Given the description of an element on the screen output the (x, y) to click on. 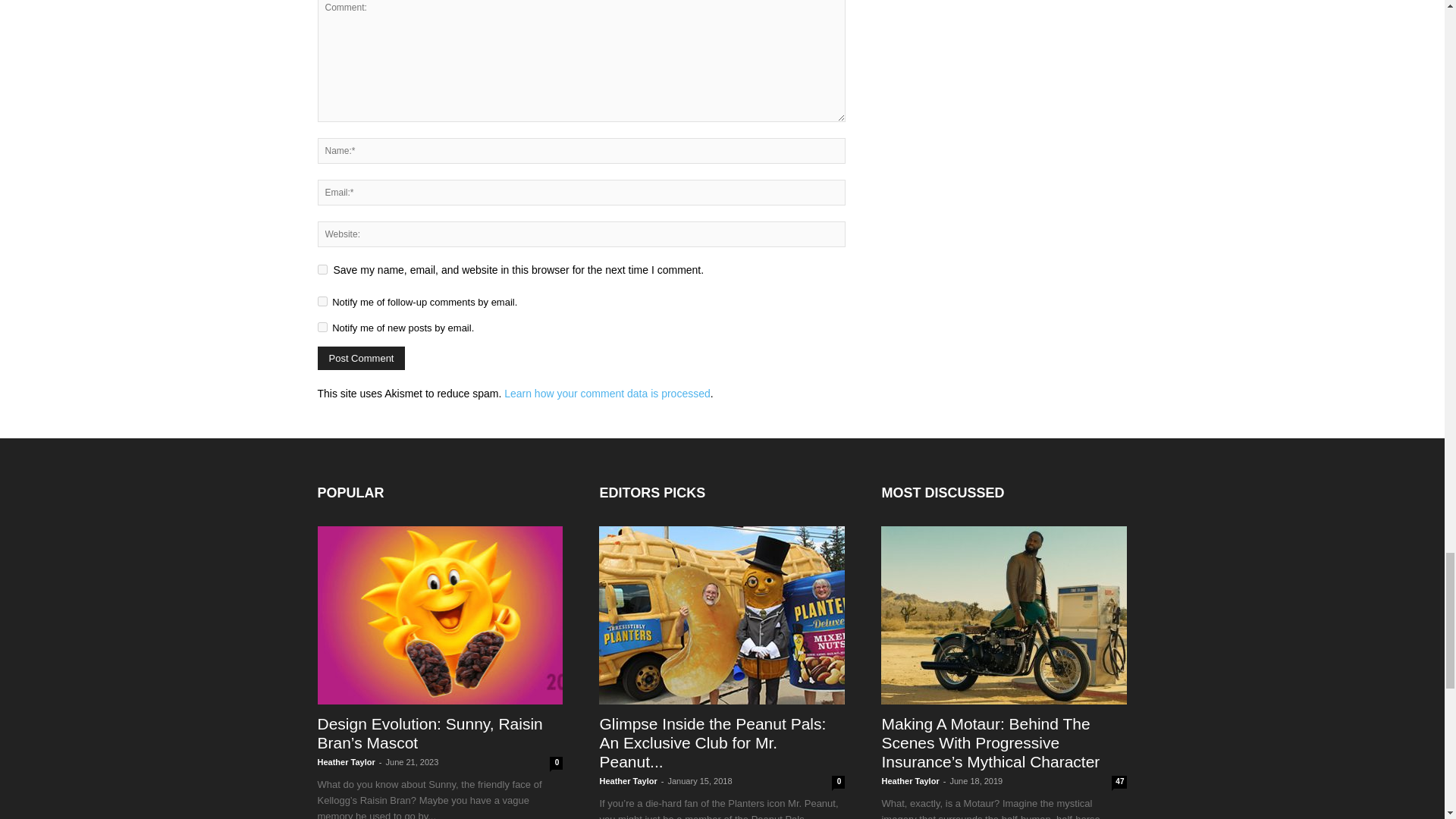
yes (321, 269)
subscribe (321, 327)
Post Comment (360, 358)
subscribe (321, 301)
